Given the description of an element on the screen output the (x, y) to click on. 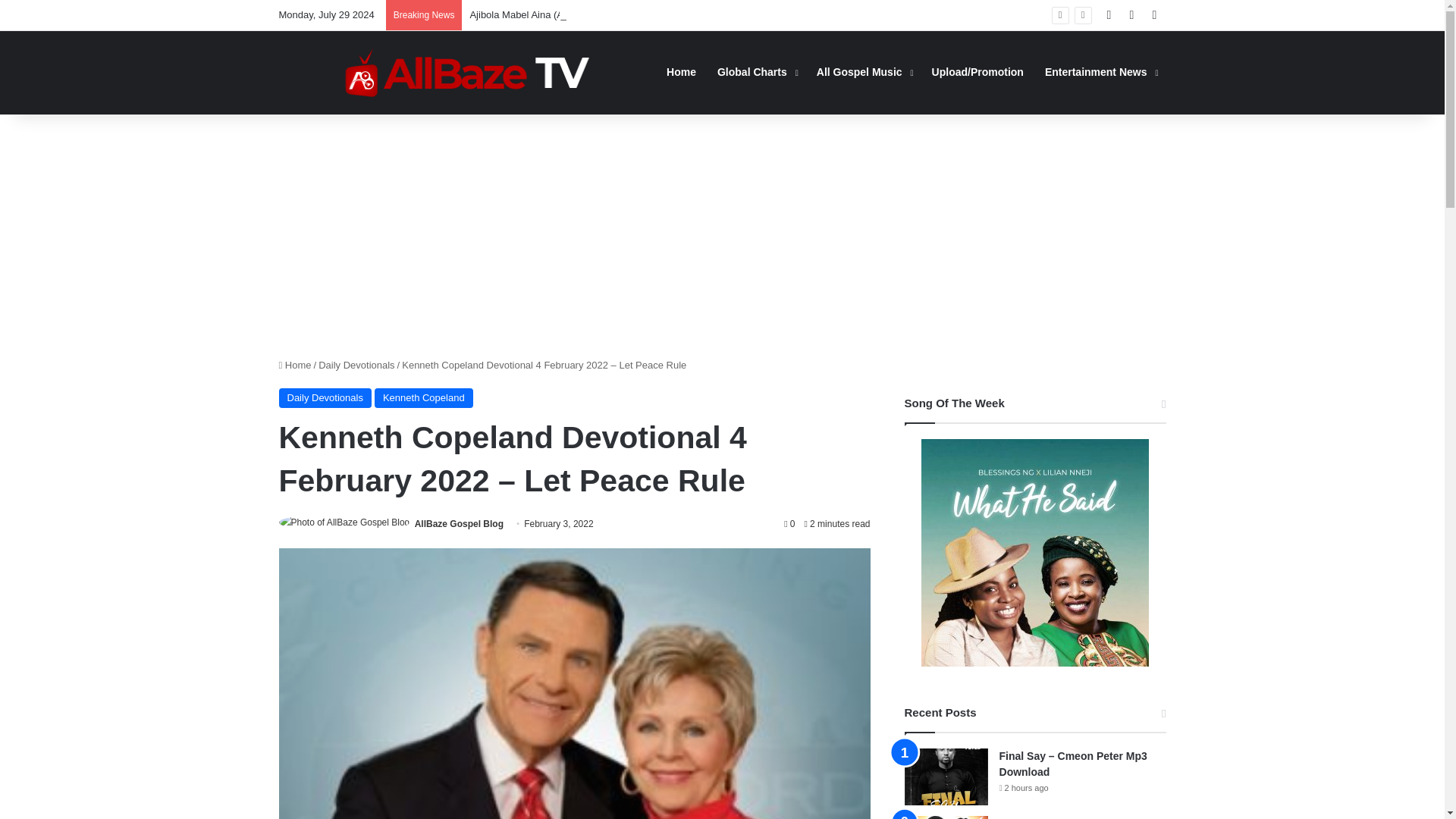
Allbaze.com (467, 72)
Kenneth Copeland (423, 397)
All Gospel Music (863, 72)
Daily Devotionals (325, 397)
Entertainment News (1099, 72)
Home (295, 365)
AllBaze Gospel Blog (458, 523)
Global Charts (756, 72)
Song Of The Week (1034, 552)
AllBaze Gospel Blog (458, 523)
Daily Devotionals (356, 365)
